Given the description of an element on the screen output the (x, y) to click on. 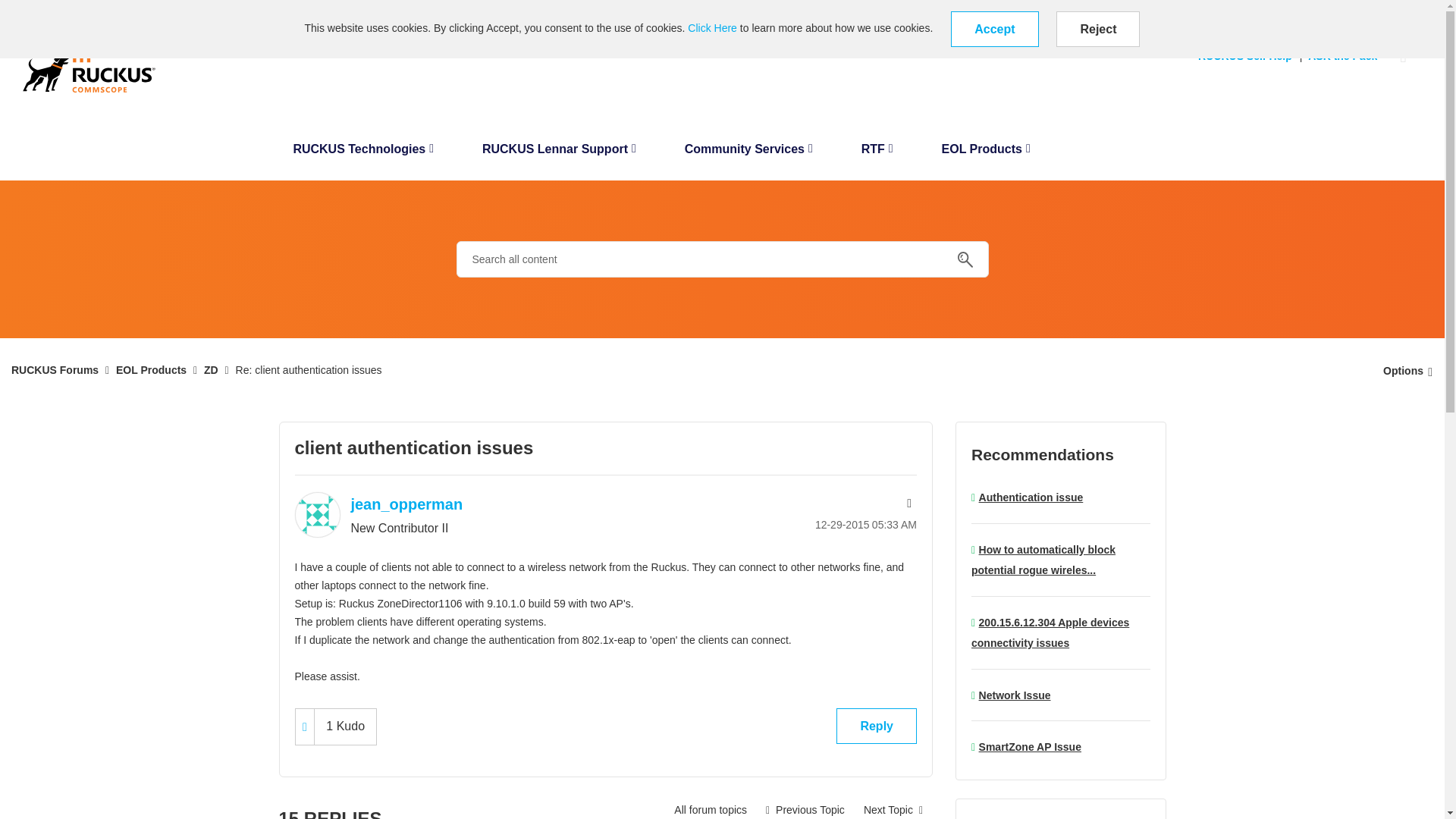
Accept (994, 28)
Click here to see who gave kudos to this post. (344, 726)
Click Here (711, 28)
Reject (1098, 28)
ZoneDirector (710, 807)
RUCKUS Lennar Support (558, 153)
BACK TO SUPPORT PORTAL (74, 10)
What is the latest firmware for the ZF2925? (804, 807)
Search (722, 258)
CommScope RUCKUS Community Forums (89, 67)
Community Services (748, 153)
Show option menu (1402, 370)
Click here to give kudos to this post. (305, 726)
RUCKUS Self Help (1249, 55)
